Given the description of an element on the screen output the (x, y) to click on. 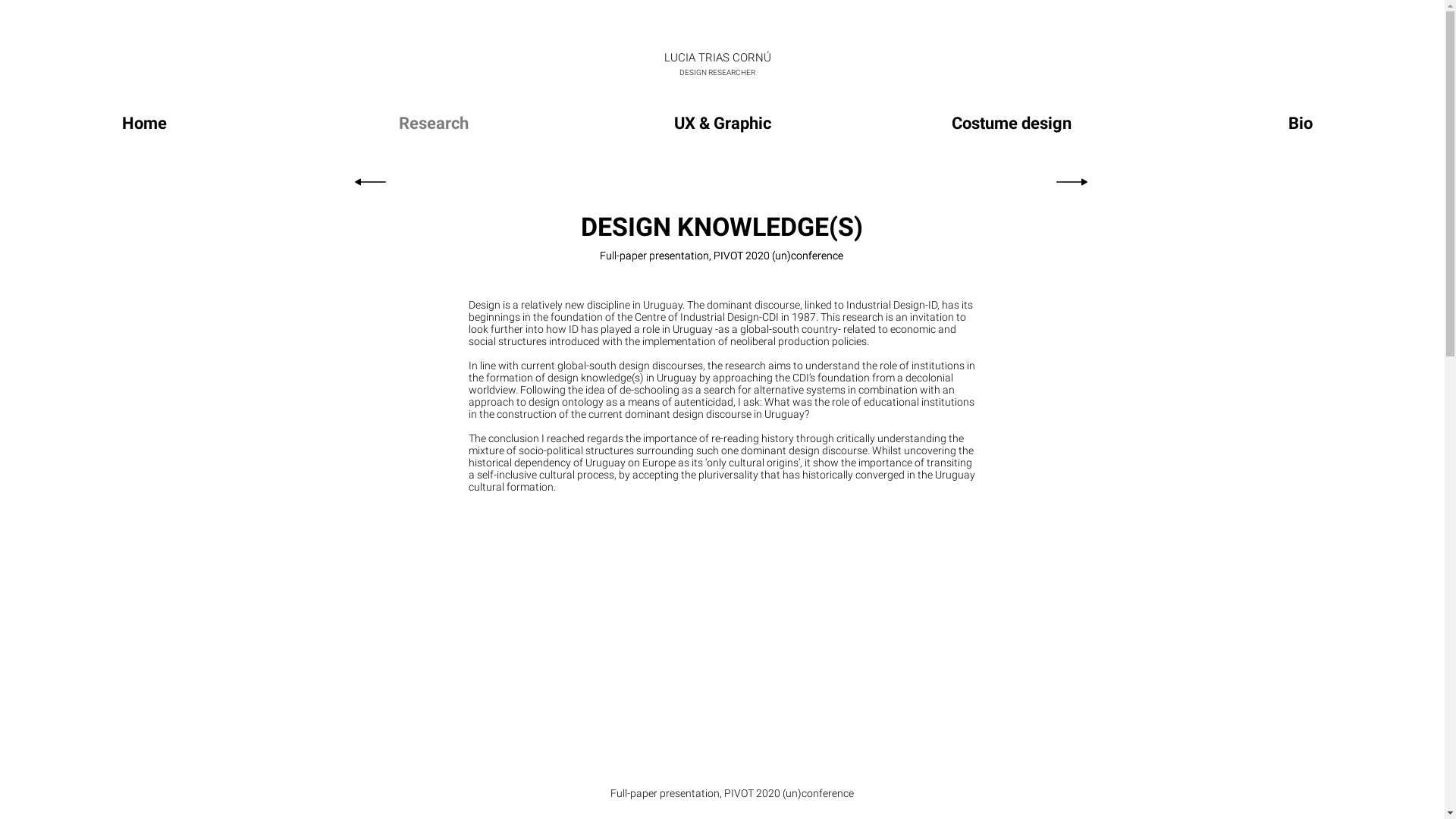
UX & Graphic Element type: text (721, 123)
Research Element type: text (432, 123)
Bio Element type: text (1299, 123)
Costume design Element type: text (1010, 123)
Home Element type: text (144, 123)
